Given the description of an element on the screen output the (x, y) to click on. 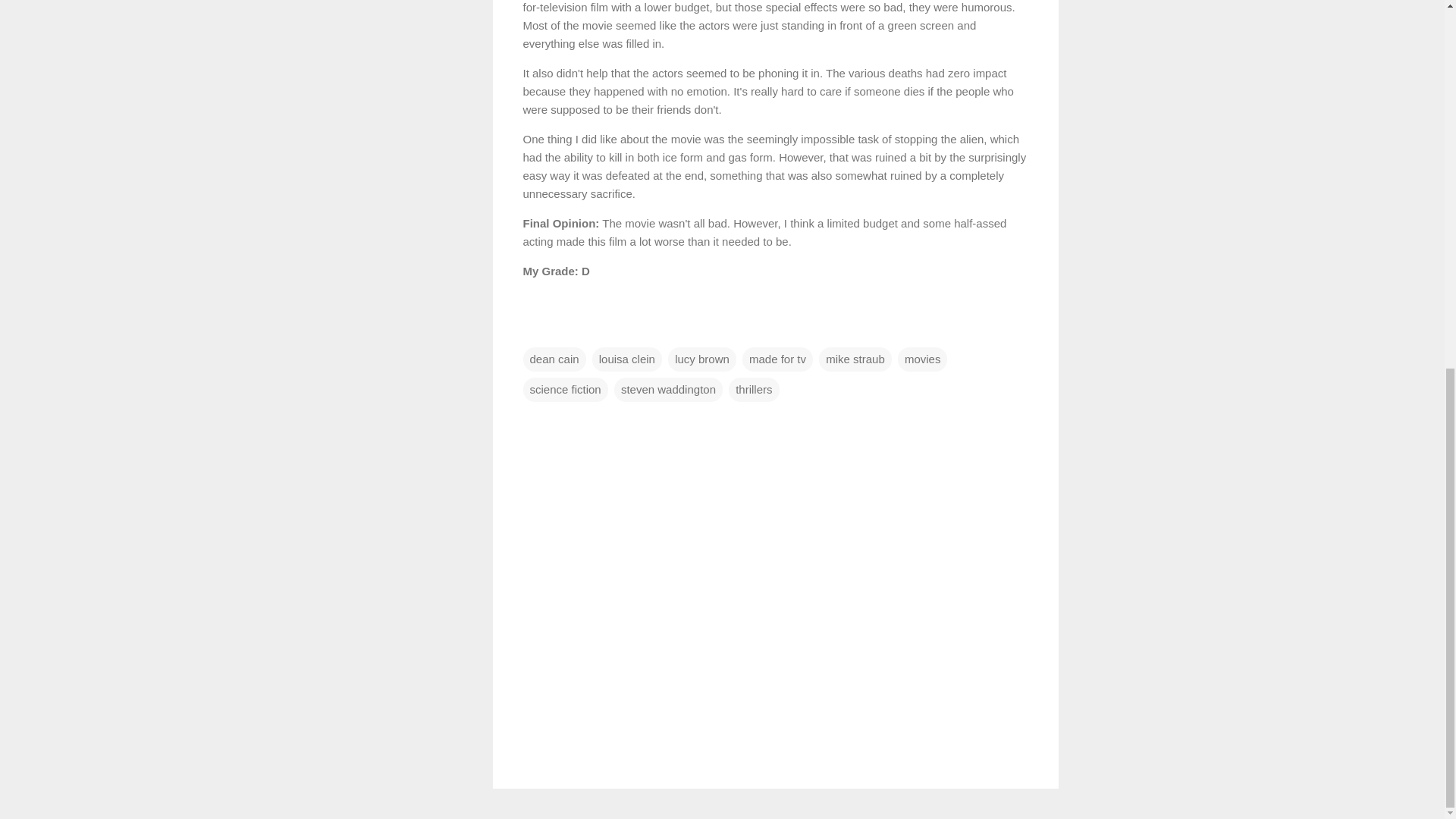
steven waddington (668, 389)
dean cain (554, 359)
thrillers (753, 389)
mike straub (854, 359)
movies (922, 359)
louisa clein (627, 359)
science fiction (565, 389)
made for tv (777, 359)
lucy brown (702, 359)
